Given the description of an element on the screen output the (x, y) to click on. 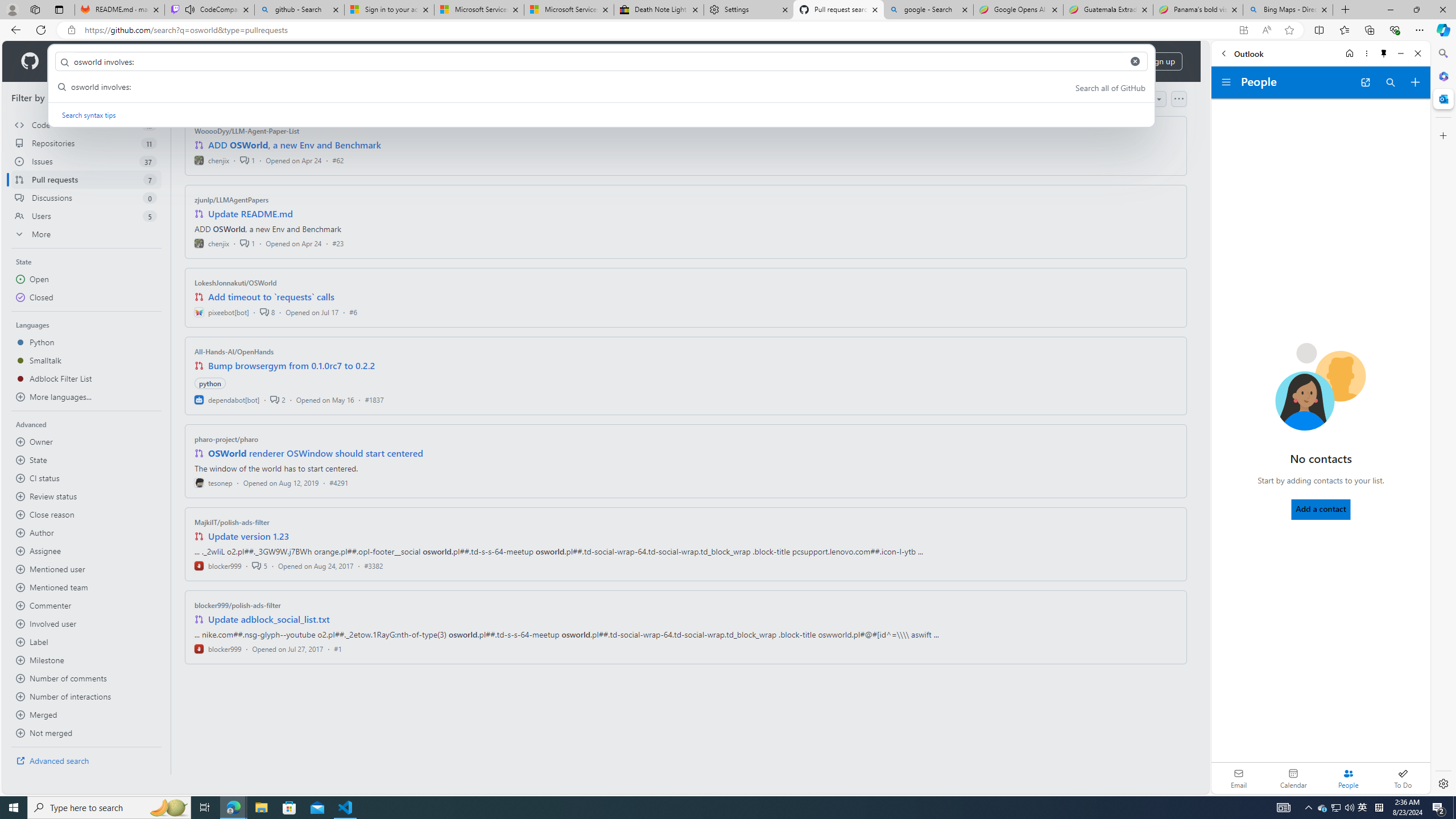
Resources (187, 60)
More languages... (86, 397)
Product (74, 60)
#1837 (374, 398)
Solutions (128, 60)
More languages... (86, 397)
